Given the description of an element on the screen output the (x, y) to click on. 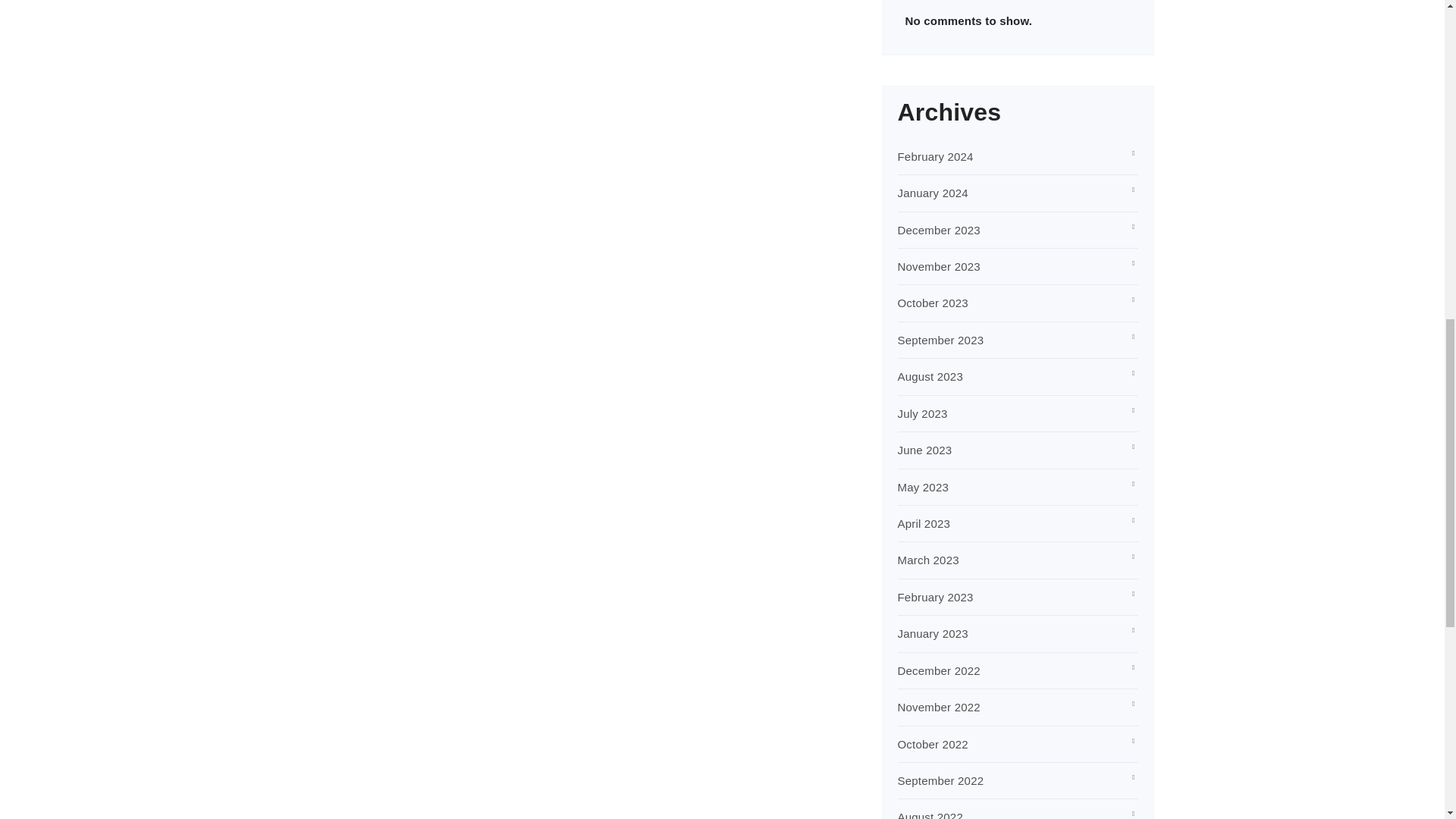
September 2023 (941, 339)
January 2024 (933, 192)
June 2023 (925, 449)
November 2023 (938, 266)
January 2023 (933, 633)
July 2023 (922, 413)
March 2023 (928, 559)
August 2023 (930, 376)
April 2023 (924, 522)
October 2022 (933, 744)
December 2022 (938, 670)
November 2022 (938, 707)
May 2023 (923, 486)
December 2023 (938, 229)
February 2024 (936, 155)
